Given the description of an element on the screen output the (x, y) to click on. 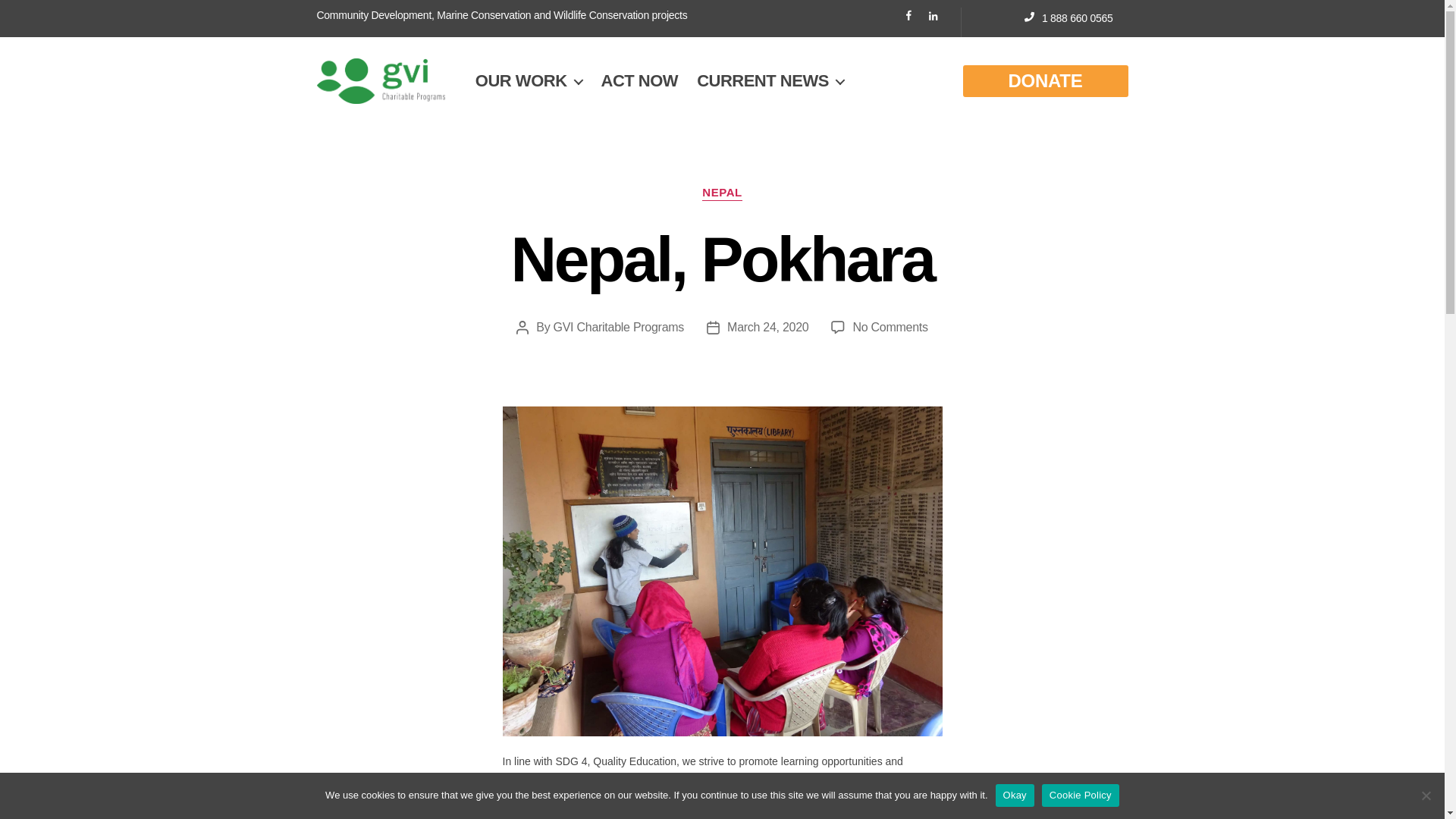
DONATE (1045, 81)
CURRENT NEWS (770, 80)
March 24, 2020 (767, 327)
ACT NOW (639, 80)
No (1425, 795)
NEPAL (721, 192)
OUR WORK (529, 80)
1 888 660 0565 (889, 327)
